Given the description of an element on the screen output the (x, y) to click on. 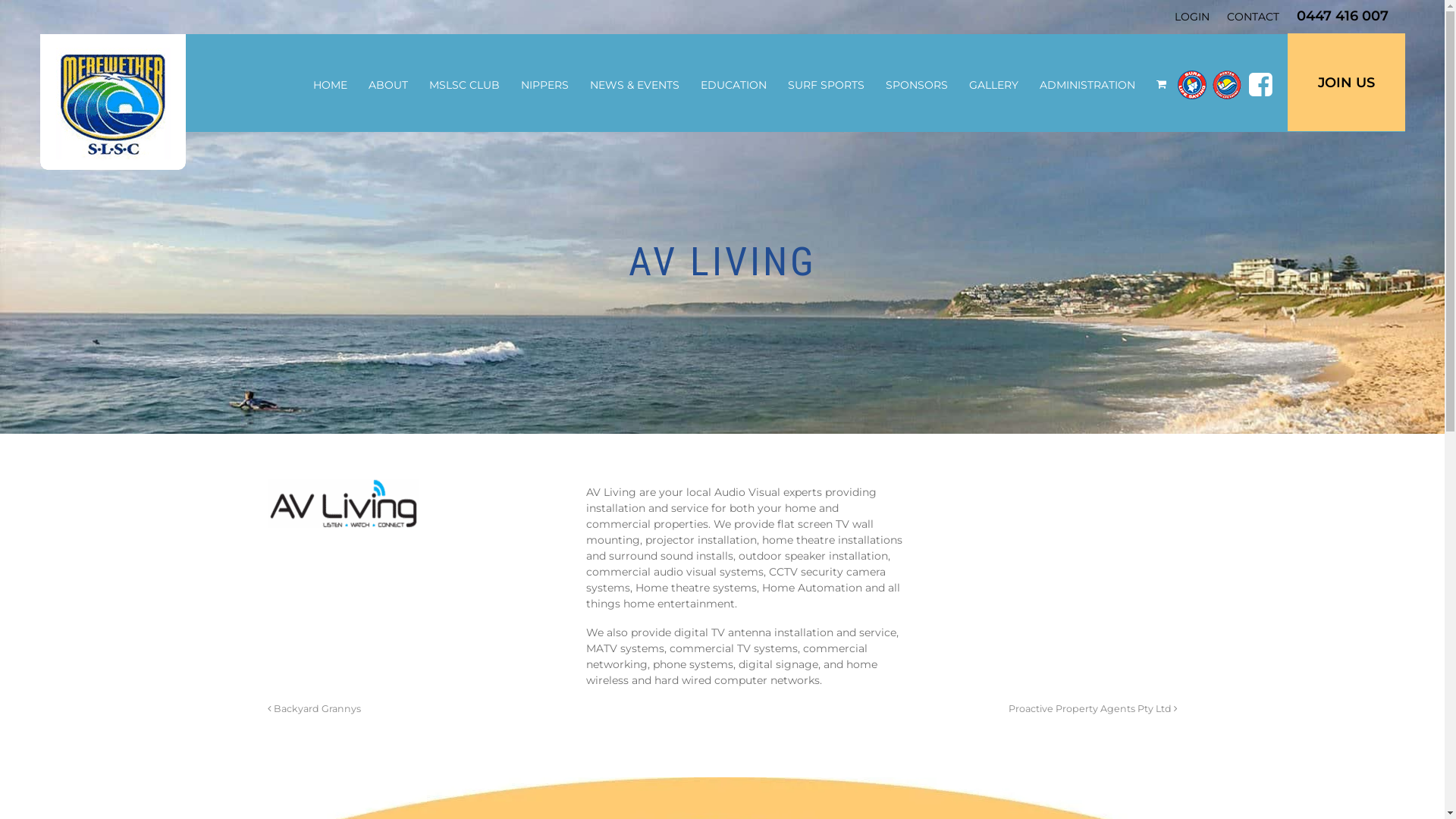
EDUCATION Element type: text (733, 85)
LOGIN Element type: text (1191, 16)
CONTACT Element type: text (1252, 16)
SURF SPORTS Element type: text (825, 85)
AV Living - Element type: hover (342, 503)
GALLERY Element type: text (993, 85)
MSLSC CLUB Element type: text (464, 85)
ADMINISTRATION Element type: text (1086, 85)
HOME Element type: text (329, 85)
SPONSORS Element type: text (916, 85)
ABOUT Element type: text (387, 85)
Facebook Element type: hover (1260, 83)
0447 416 007 Element type: text (1342, 15)
View your shopping cart Element type: hover (1160, 84)
NIPPERS Element type: text (543, 85)
JOIN US Element type: text (1346, 82)
Proactive Property Agents Pty Ltd Element type: text (1092, 708)
NEWS & EVENTS Element type: text (634, 85)
Backyard Grannys Element type: text (313, 708)
